Given the description of an element on the screen output the (x, y) to click on. 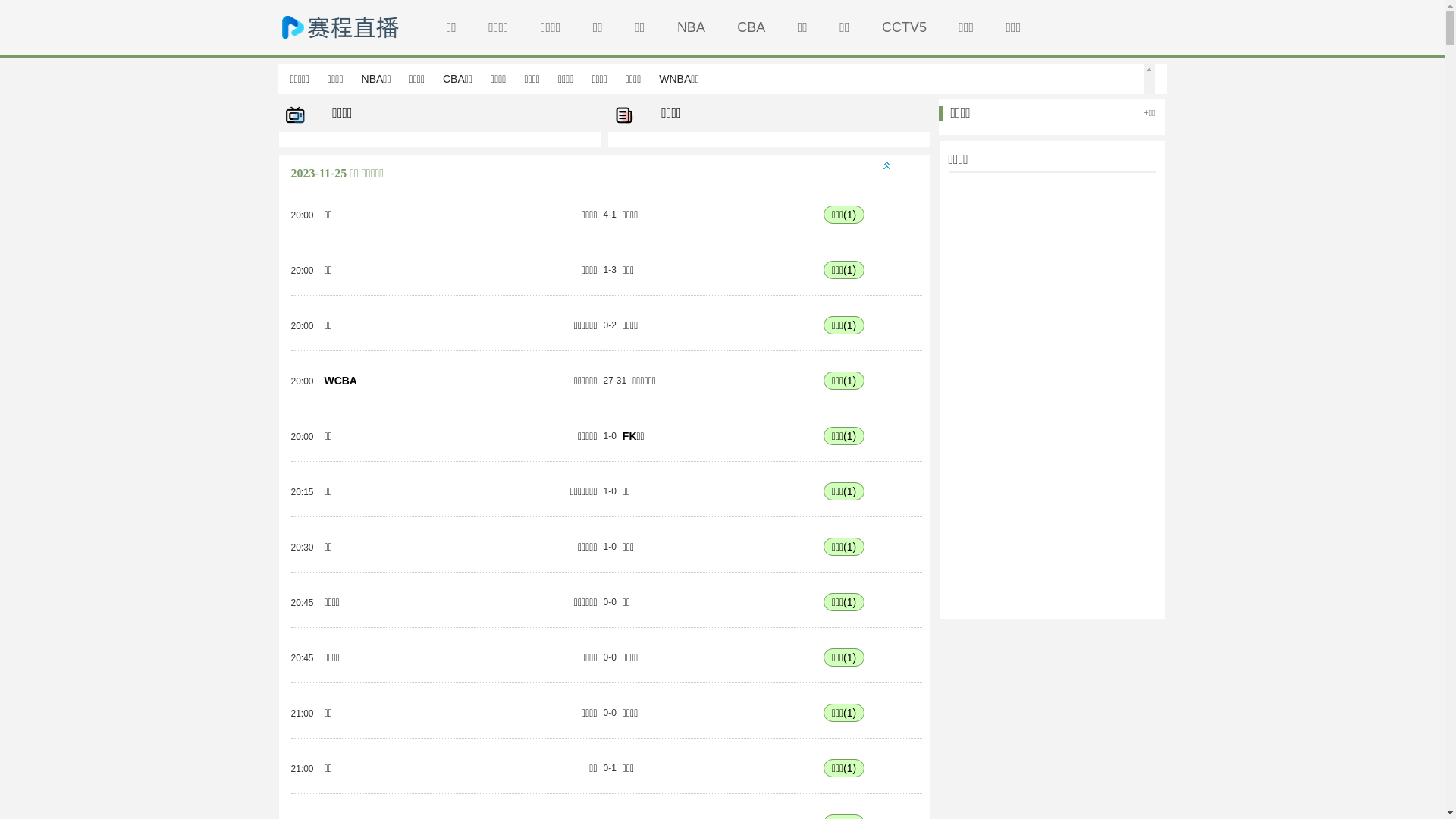
CBA Element type: text (751, 26)
NBA Element type: text (691, 26)
CCTV5 Element type: text (903, 26)
WCBA Element type: text (339, 380)
